Given the description of an element on the screen output the (x, y) to click on. 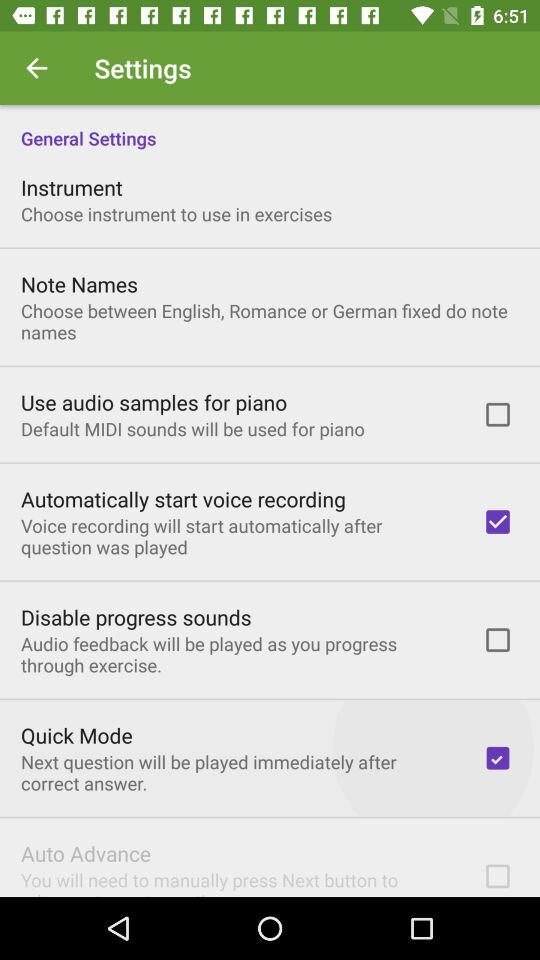
press the disable progress sounds (136, 617)
